Given the description of an element on the screen output the (x, y) to click on. 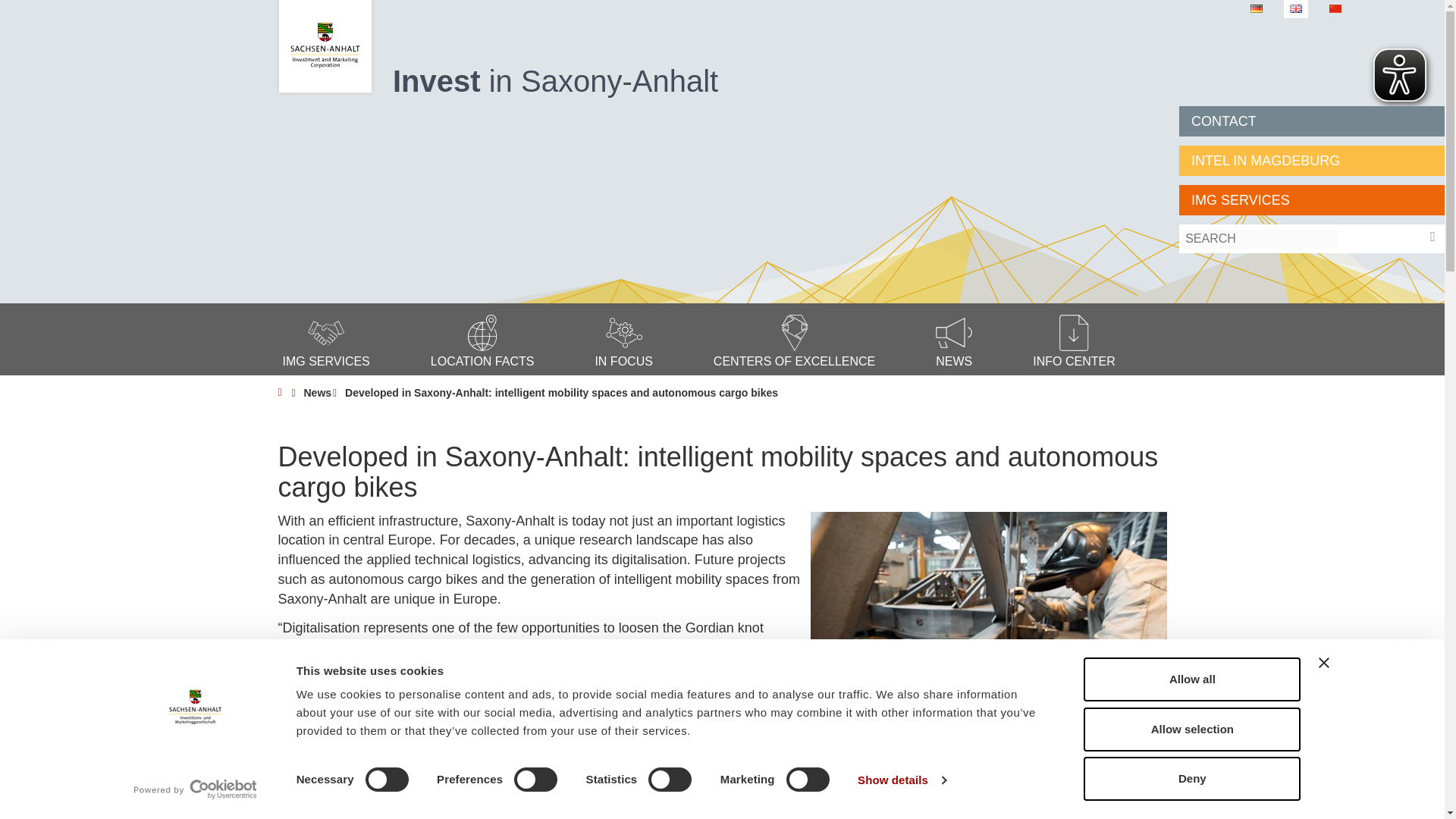
Show details (900, 780)
